Given the description of an element on the screen output the (x, y) to click on. 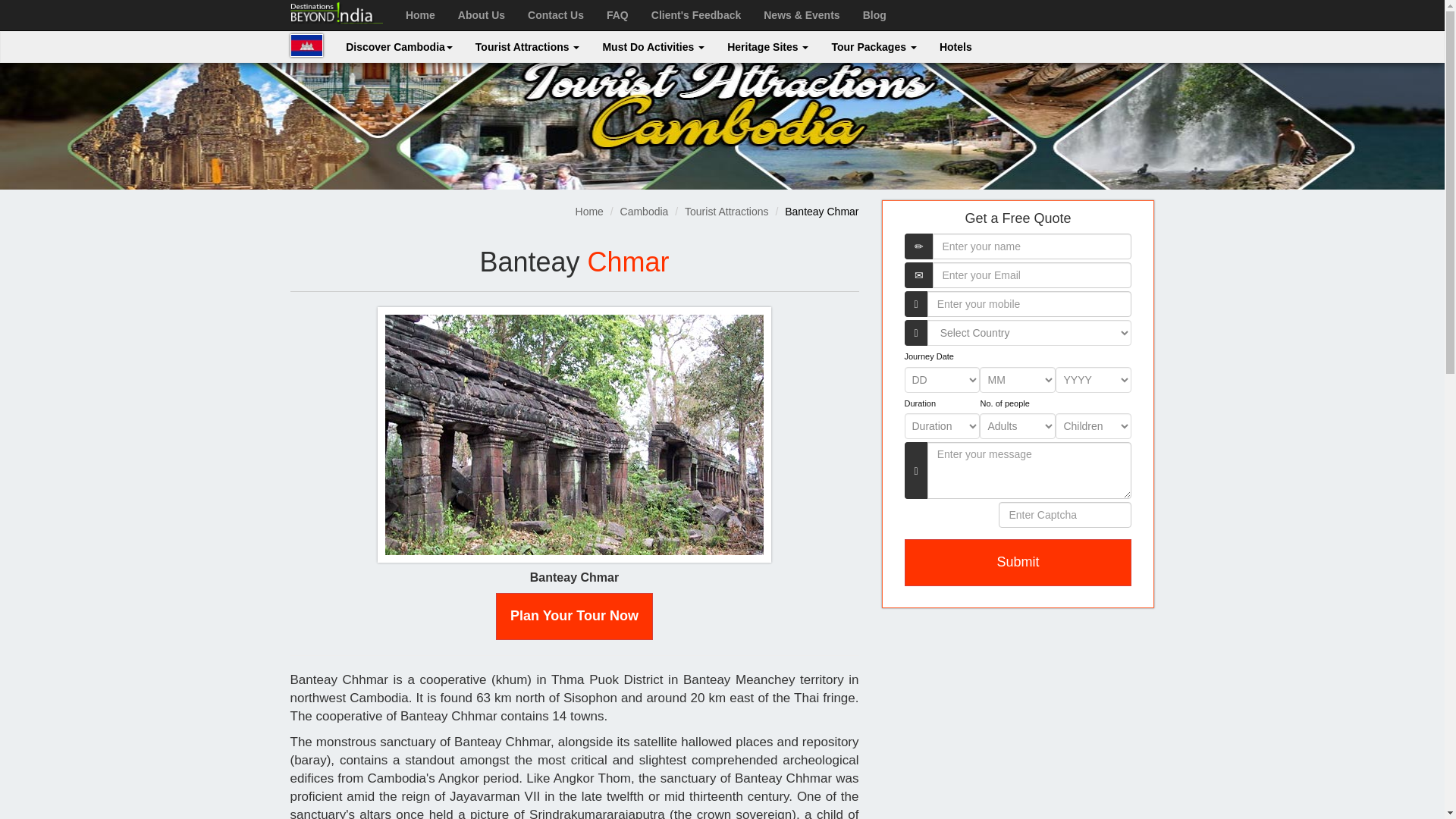
Banteay Chmar (574, 434)
About Us (481, 15)
Home (420, 15)
Blog (874, 15)
Cambodia (306, 45)
Tourist Attractions (527, 46)
Discover Cambodia (399, 46)
Must Do Activities (653, 46)
FAQ (617, 15)
Contact Us (555, 15)
